Given the description of an element on the screen output the (x, y) to click on. 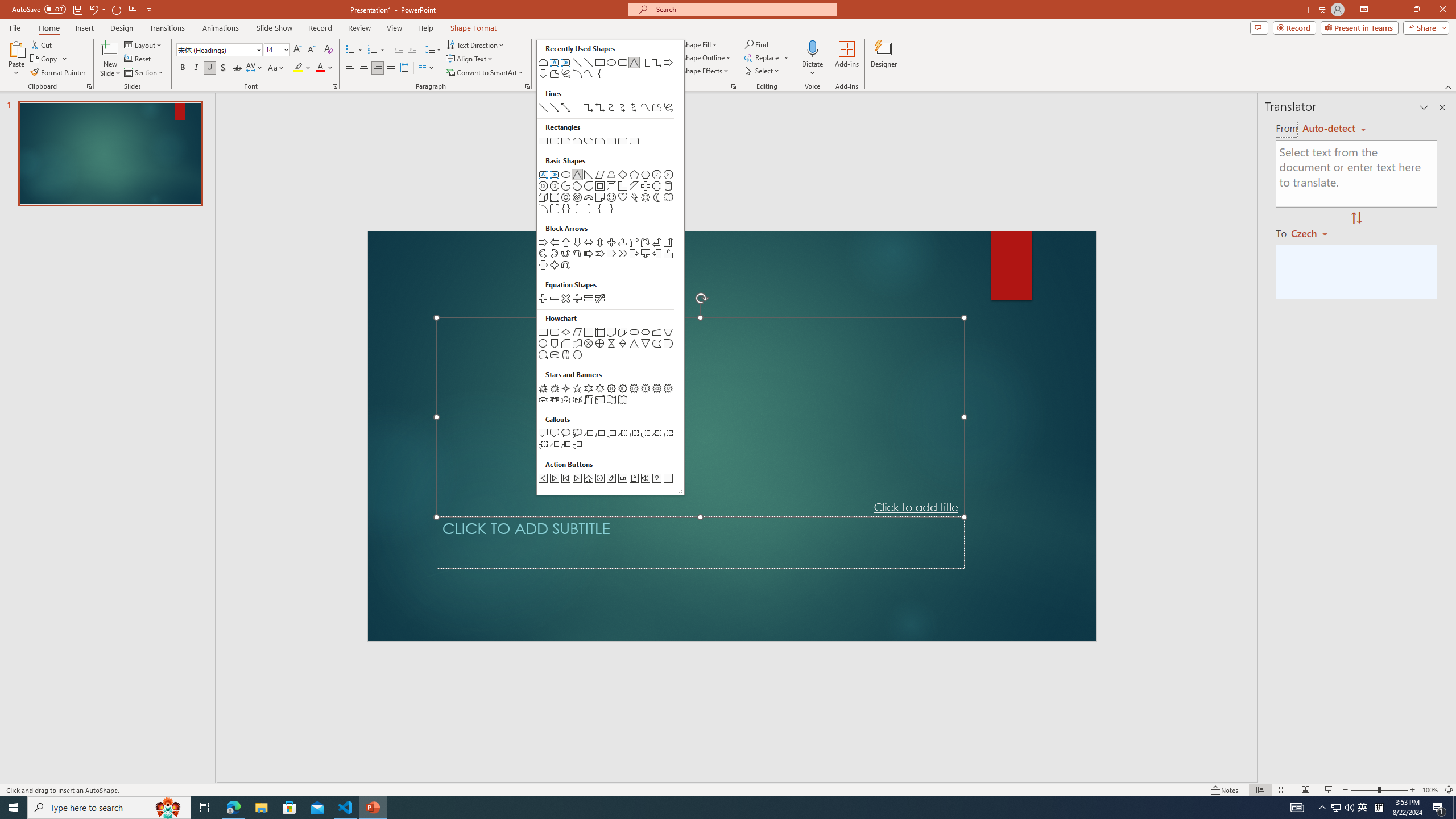
Czech (1313, 232)
Character Spacing (254, 67)
Underline (209, 67)
Shadow (223, 67)
Columns (426, 67)
Select (762, 69)
Subtitle TextBox (699, 542)
